Given the description of an element on the screen output the (x, y) to click on. 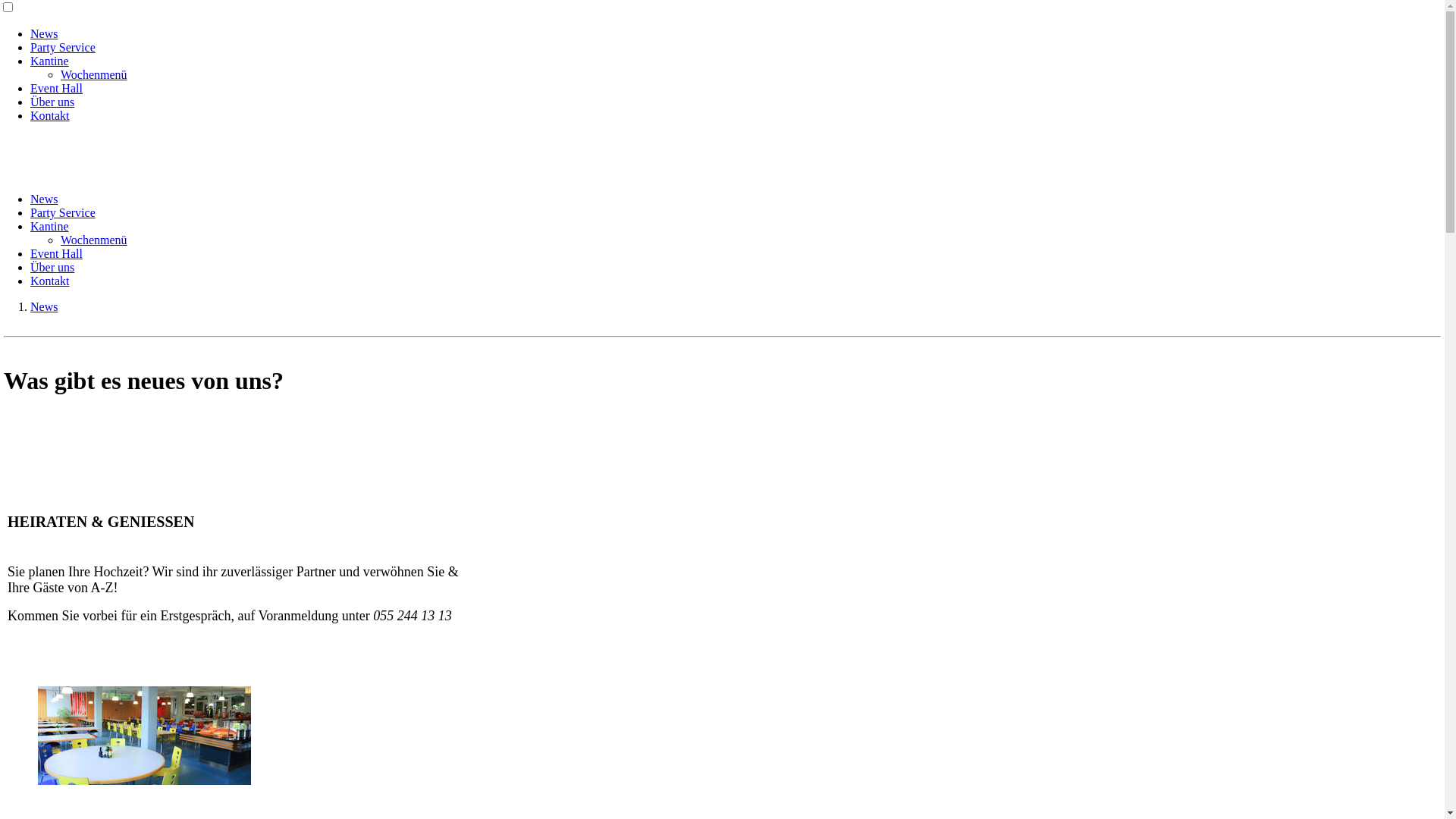
Party Service Element type: text (62, 212)
Kantine Element type: text (49, 225)
News Element type: text (43, 33)
News Element type: text (43, 198)
News Element type: text (43, 306)
Event Hall Element type: text (56, 87)
Kontakt Element type: text (49, 115)
Event Hall Element type: text (56, 253)
Kantine Element type: text (49, 60)
Party Service Element type: text (62, 46)
Kontakt Element type: text (49, 280)
